Given the description of an element on the screen output the (x, y) to click on. 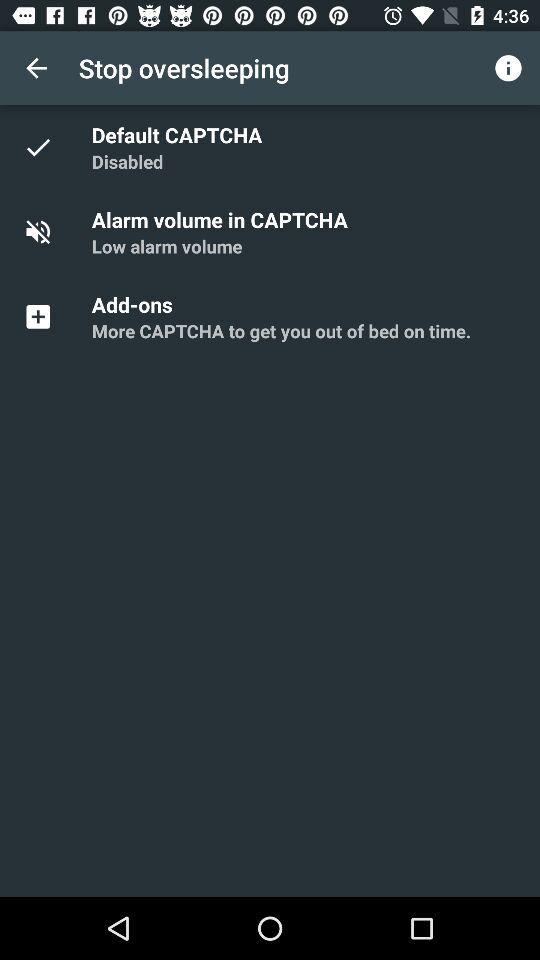
scroll to the default captcha icon (180, 134)
